Given the description of an element on the screen output the (x, y) to click on. 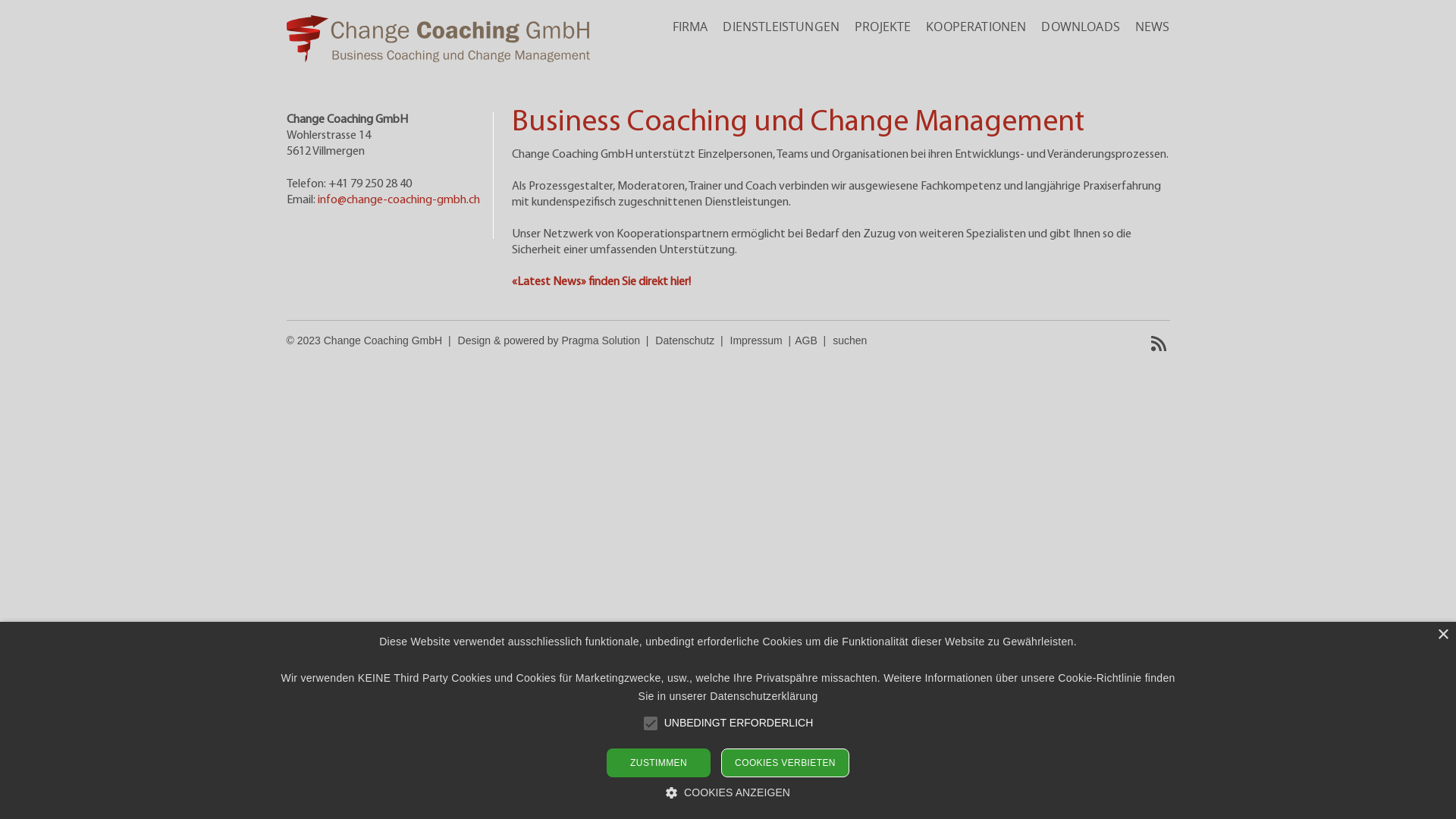
DIENSTLEISTUNGEN Element type: text (780, 26)
Impressum  |  Element type: text (762, 340)
AGB  |   Element type: text (812, 340)
FIRMA Element type: text (690, 26)
info@change-coaching-gmbh.ch Element type: text (397, 200)
PROJEKTE Element type: text (882, 26)
HOME Element type: hover (437, 58)
suchen Element type: text (849, 340)
Datenschutz  |   Element type: text (691, 340)
Design & powered by Pragma Solution  |   Element type: text (556, 340)
DOWNLOADS Element type: text (1080, 26)
KOOPERATIONEN Element type: text (975, 26)
NEWS Element type: text (1152, 26)
